Given the description of an element on the screen output the (x, y) to click on. 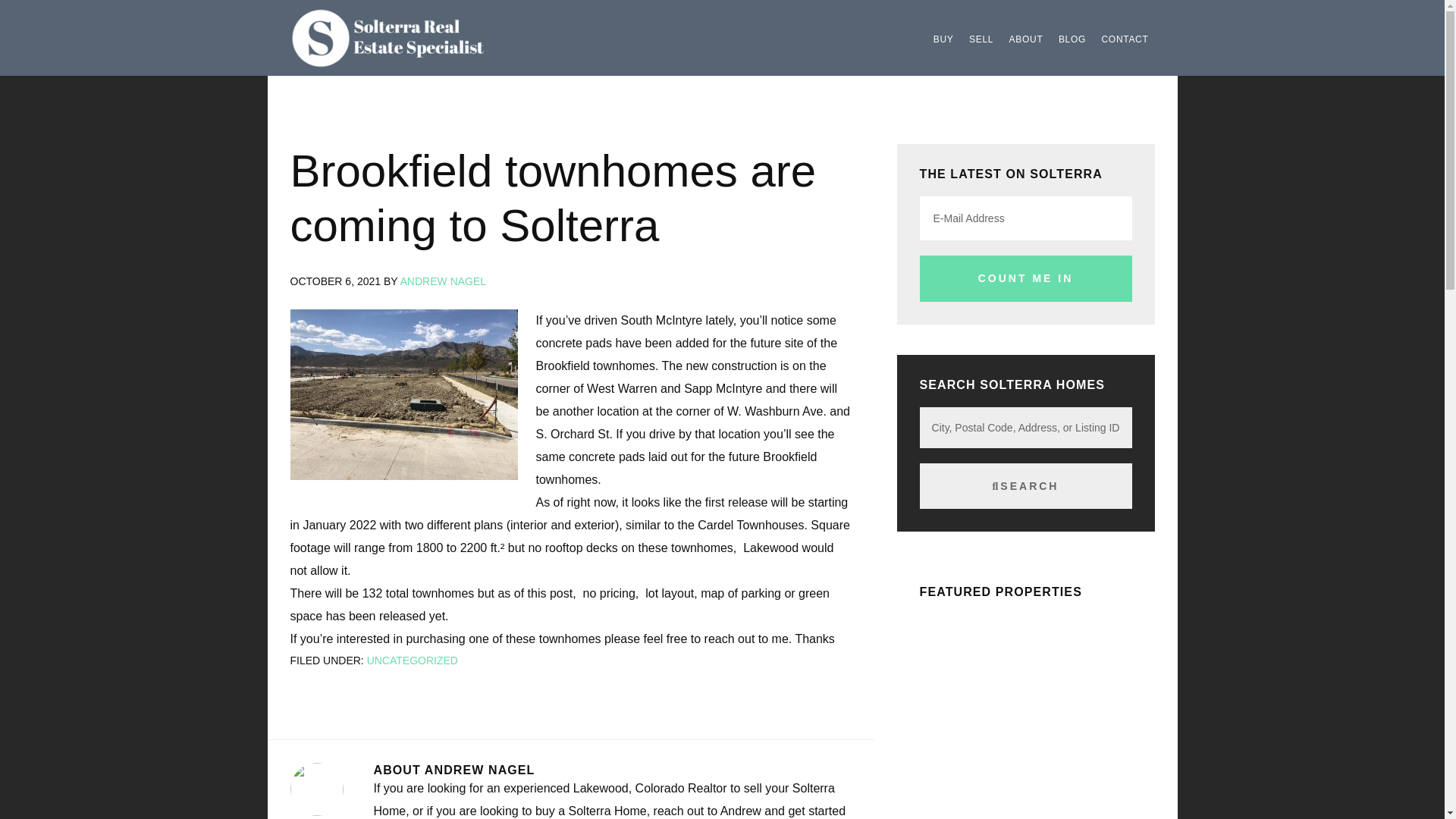
SEARCH (1026, 485)
ABOUT (1026, 39)
SOLTERRA REAL ESTATE SPECIALIST (402, 37)
UNCATEGORIZED (412, 660)
Count me in (1026, 278)
CONTACT (1124, 39)
Count me in (1026, 278)
ANDREW NAGEL (443, 281)
